Given the description of an element on the screen output the (x, y) to click on. 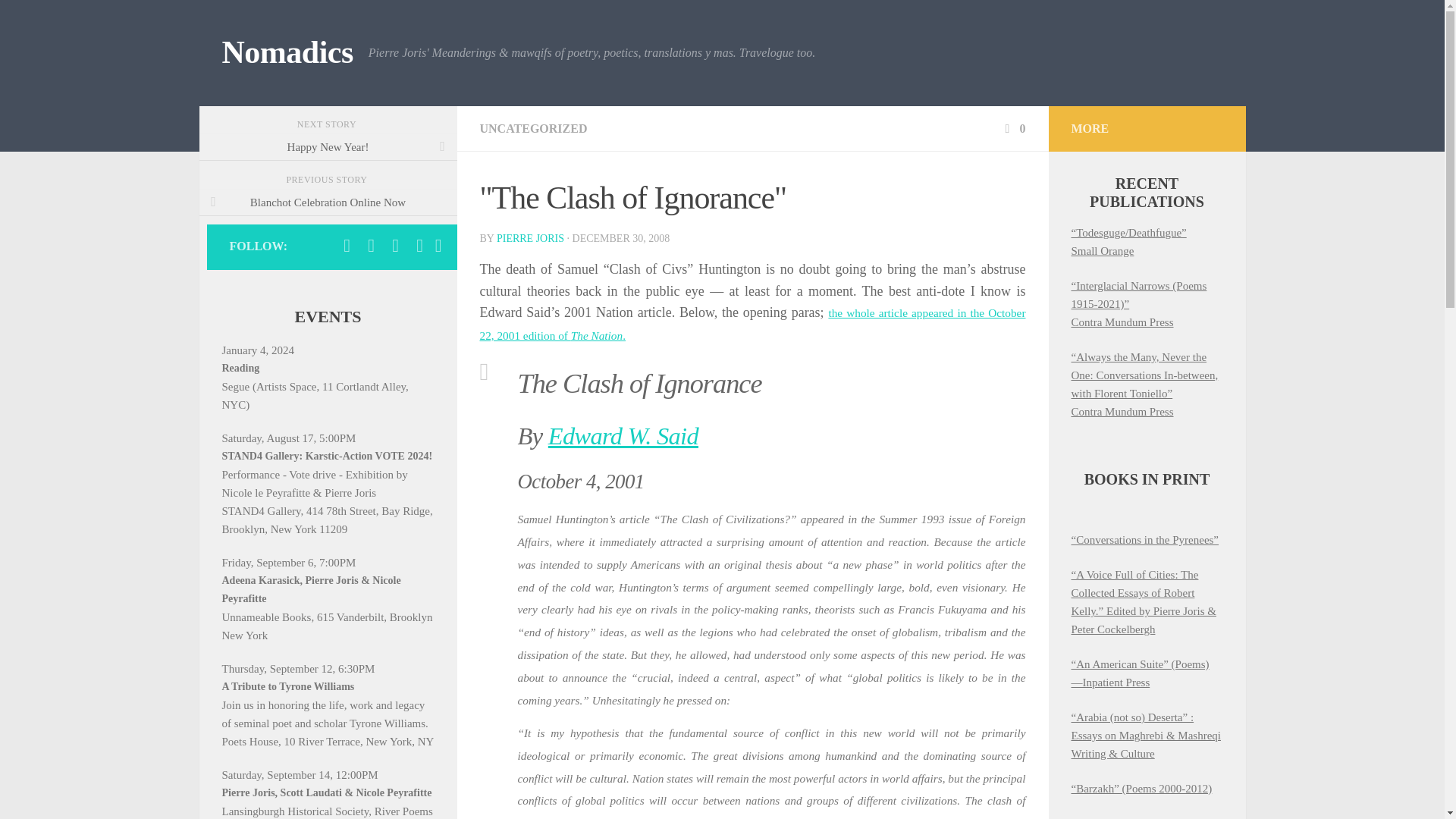
PIERRE JORIS (530, 238)
UNCATEGORIZED (532, 128)
Blanchot Celebration Online Now (327, 202)
Happy New Year! (327, 146)
Skip to content (59, 20)
Edward W. Said (623, 435)
Nomadics (286, 53)
0 (1013, 128)
Posts by Pierre Joris (530, 238)
